Given the description of an element on the screen output the (x, y) to click on. 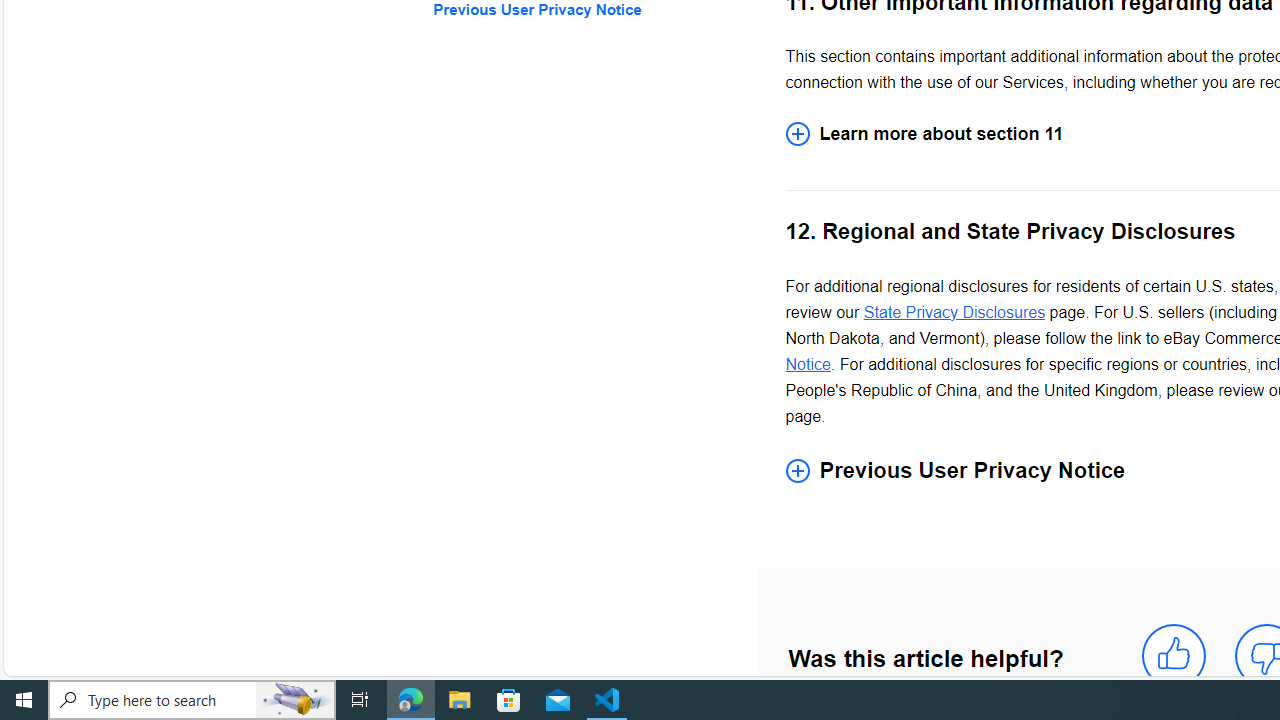
mark this article helpful (1173, 656)
State Privacy Disclosures - opens in new window or tab (953, 312)
